Given the description of an element on the screen output the (x, y) to click on. 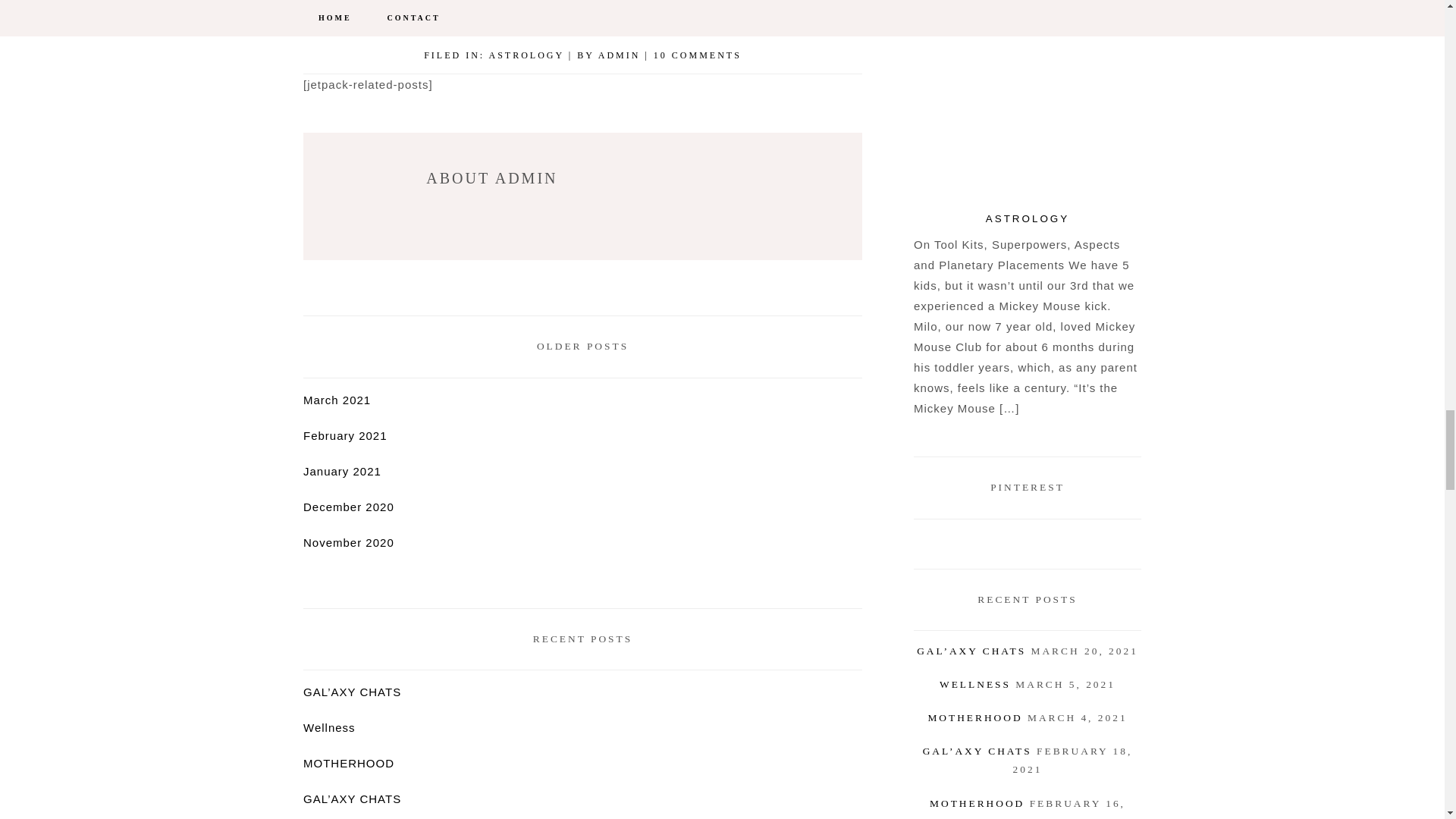
February 2021 (344, 435)
January 2021 (341, 471)
December 2020 (348, 506)
Wellness (328, 727)
10 COMMENTS (697, 54)
ASTROLOGY (526, 54)
March 2021 (336, 399)
November 2020 (348, 542)
MOTHERHOOD (348, 762)
ADMIN (619, 54)
